Given the description of an element on the screen output the (x, y) to click on. 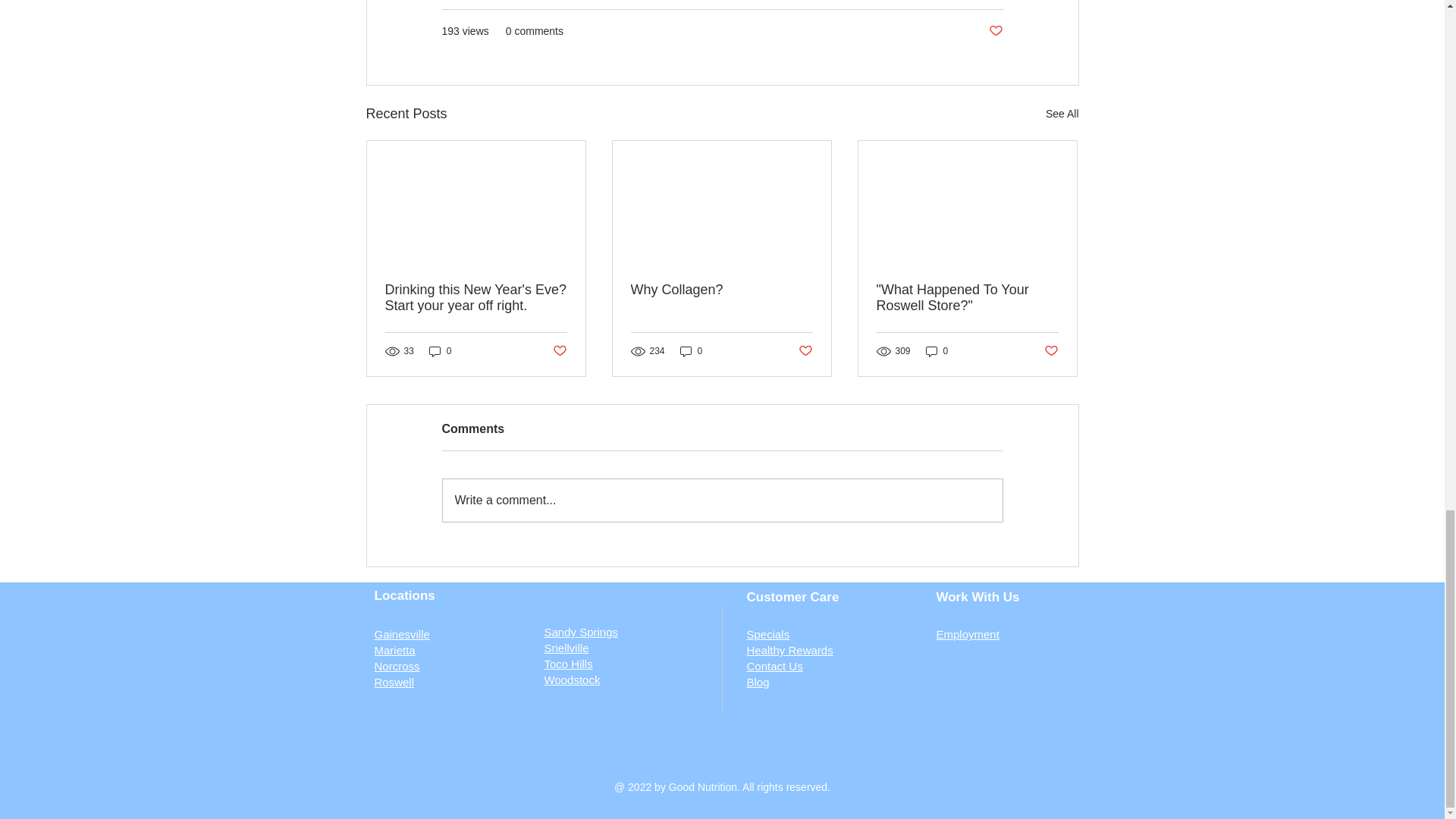
Post not marked as liked (995, 31)
